Given the description of an element on the screen output the (x, y) to click on. 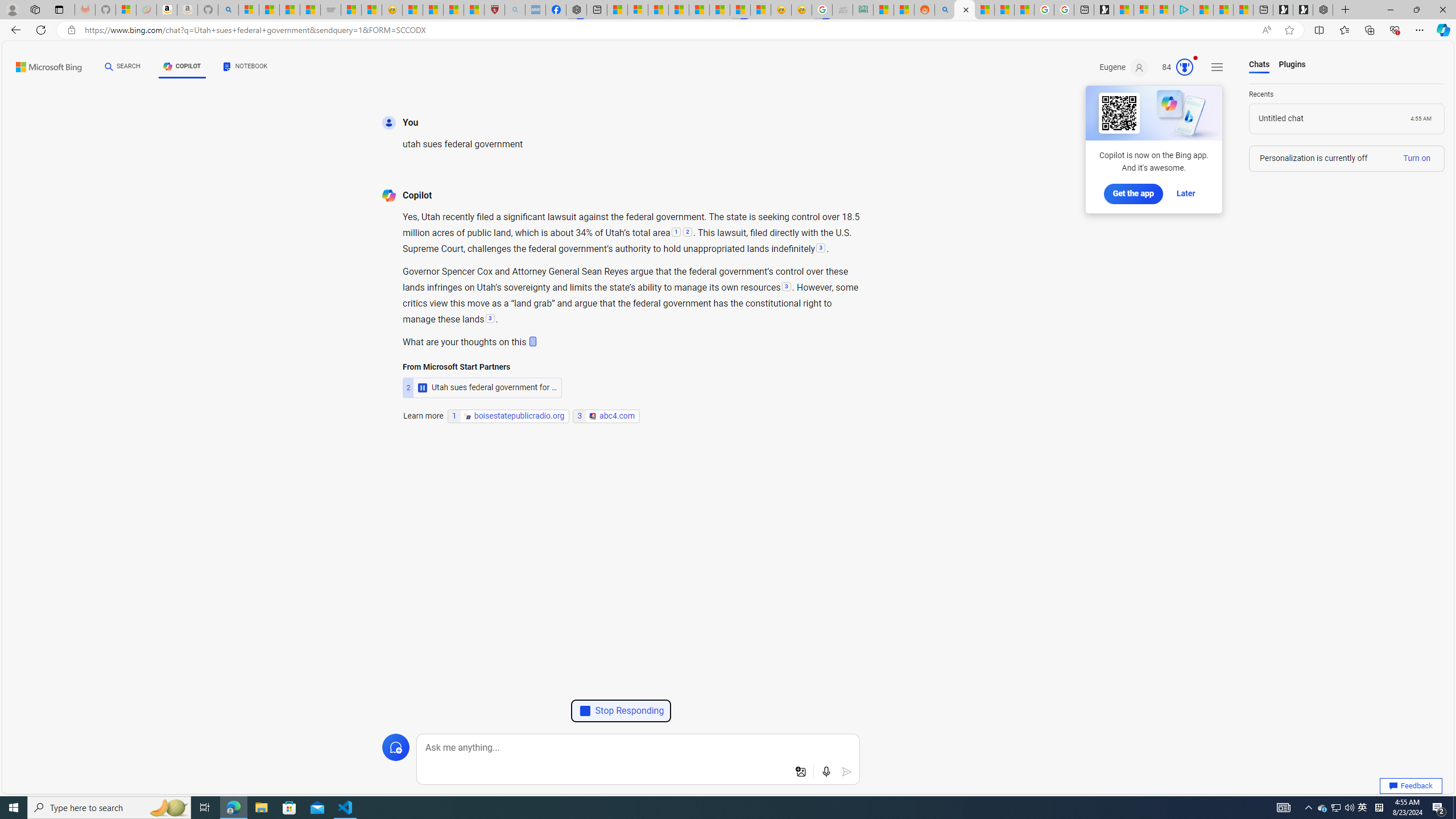
2 Utah sues federal government for control of public lands (482, 364)
AutomationID: rh_meter (1184, 66)
